Given the description of an element on the screen output the (x, y) to click on. 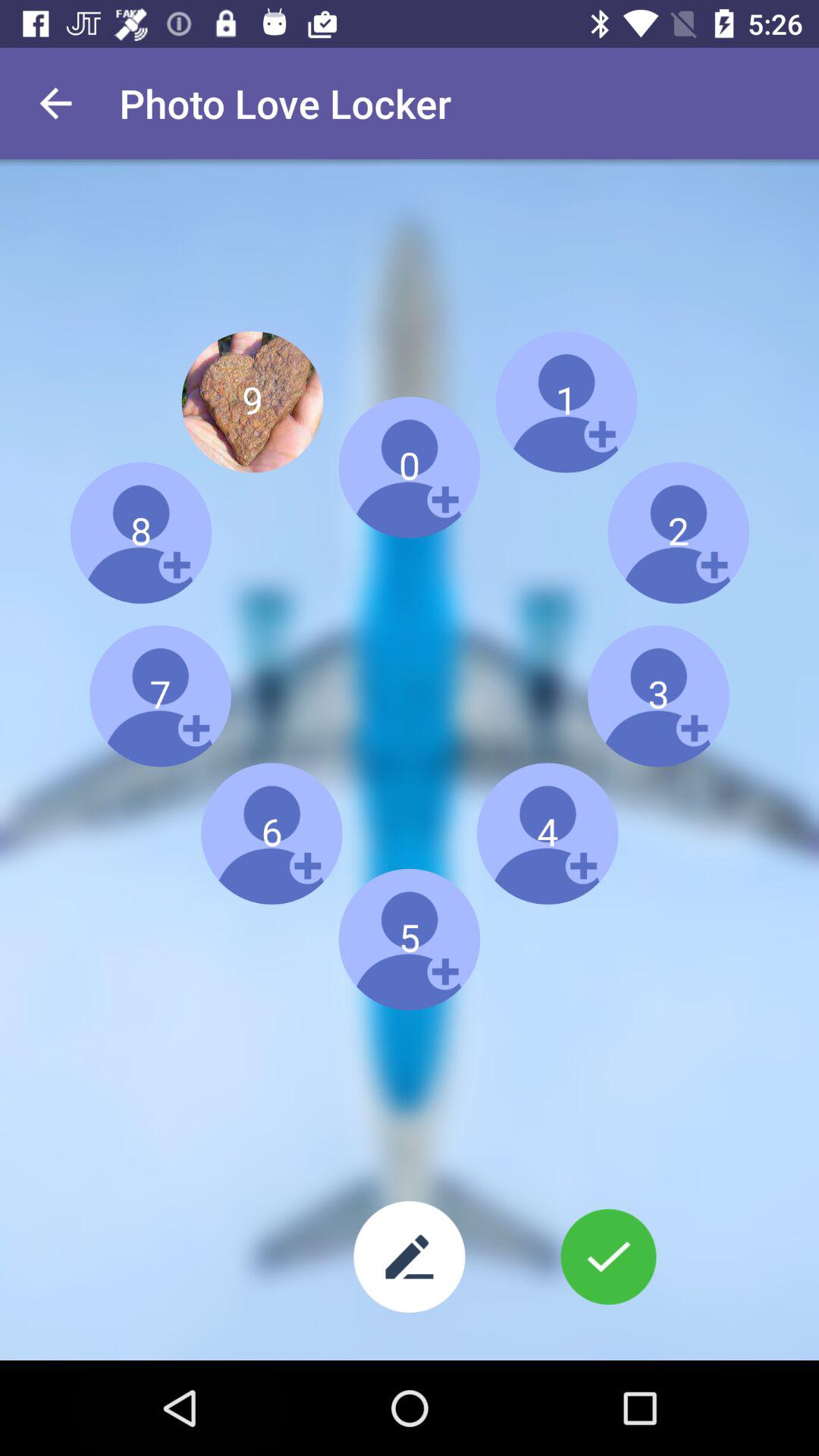
edit images (409, 1256)
